Given the description of an element on the screen output the (x, y) to click on. 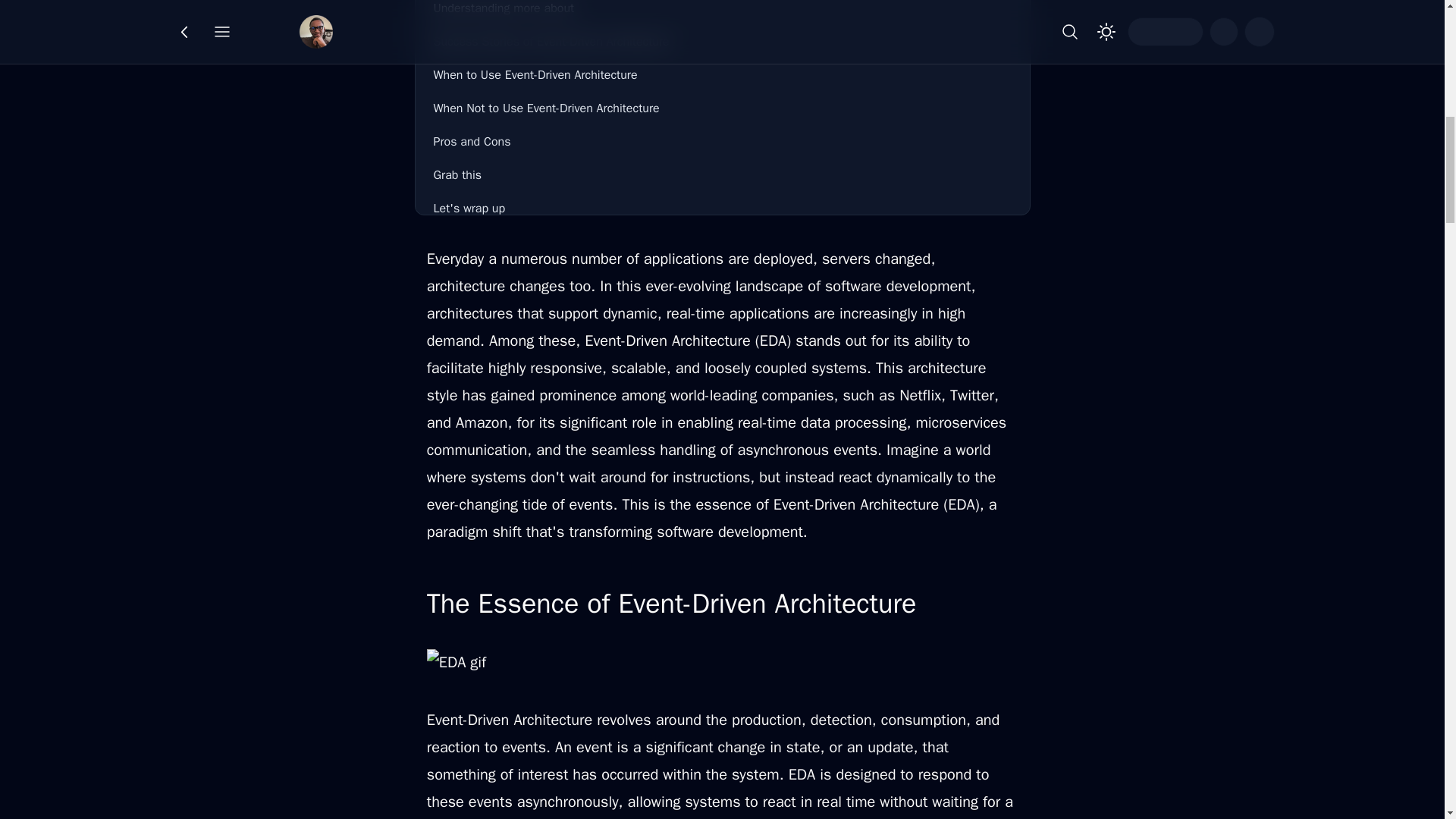
Grab this (722, 174)
When to Use Event-Driven Architecture (722, 74)
Understanding more about (722, 11)
Success Stories of Event-Driven Architecture (722, 41)
When Not to Use Event-Driven Architecture (722, 108)
Pros and Cons (722, 141)
Let's wrap up (722, 208)
